Given the description of an element on the screen output the (x, y) to click on. 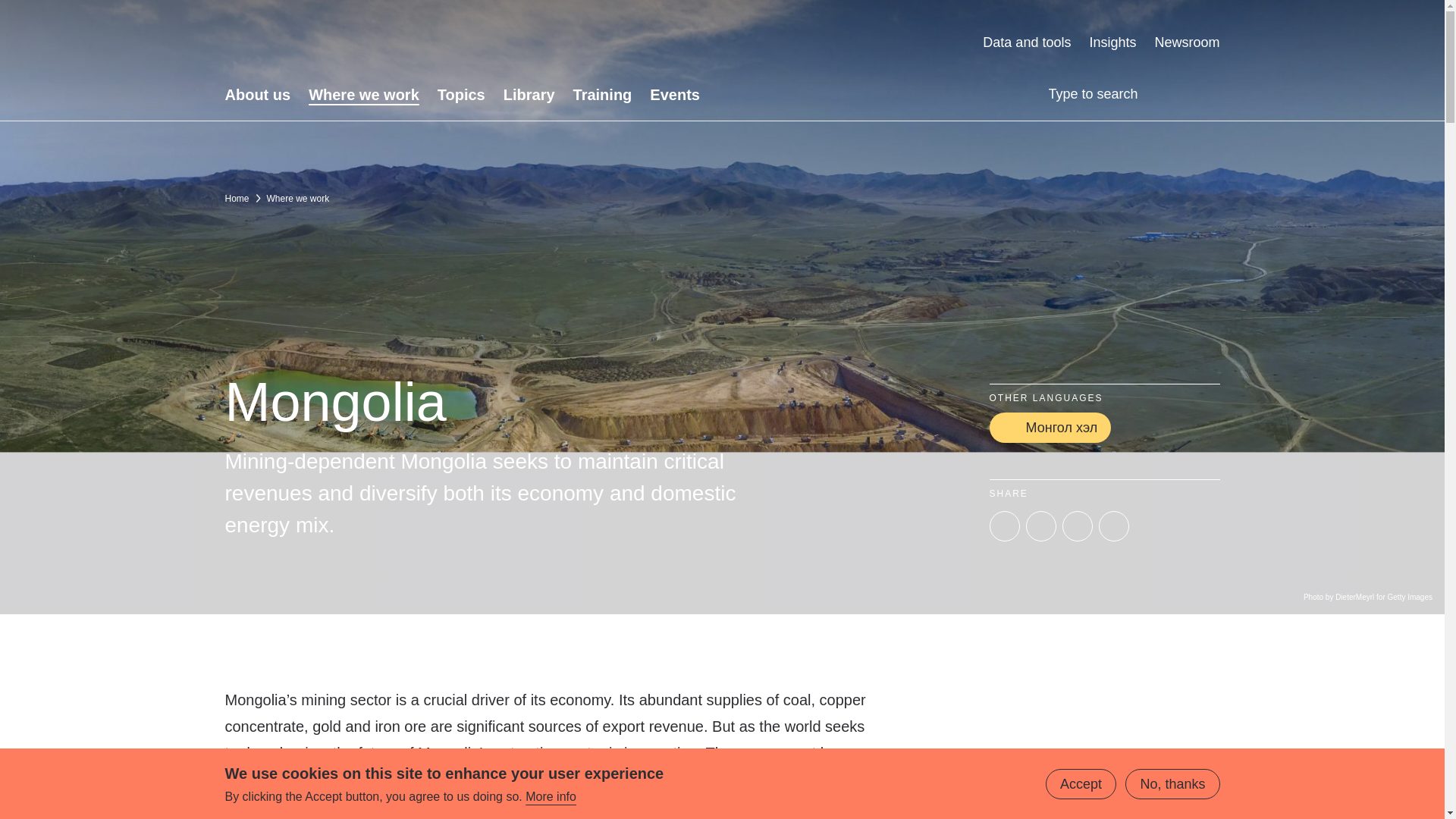
Return to the homepage (368, 42)
Topics (461, 94)
Data and tools (1026, 42)
Newsroom (1187, 42)
Share via WhatsApp (1112, 526)
Share via Twitter (1003, 526)
Where we work (363, 94)
Share via Facebook (1076, 526)
About us (256, 94)
Insights (1112, 42)
Share via Linkedin (1040, 526)
